Given the description of an element on the screen output the (x, y) to click on. 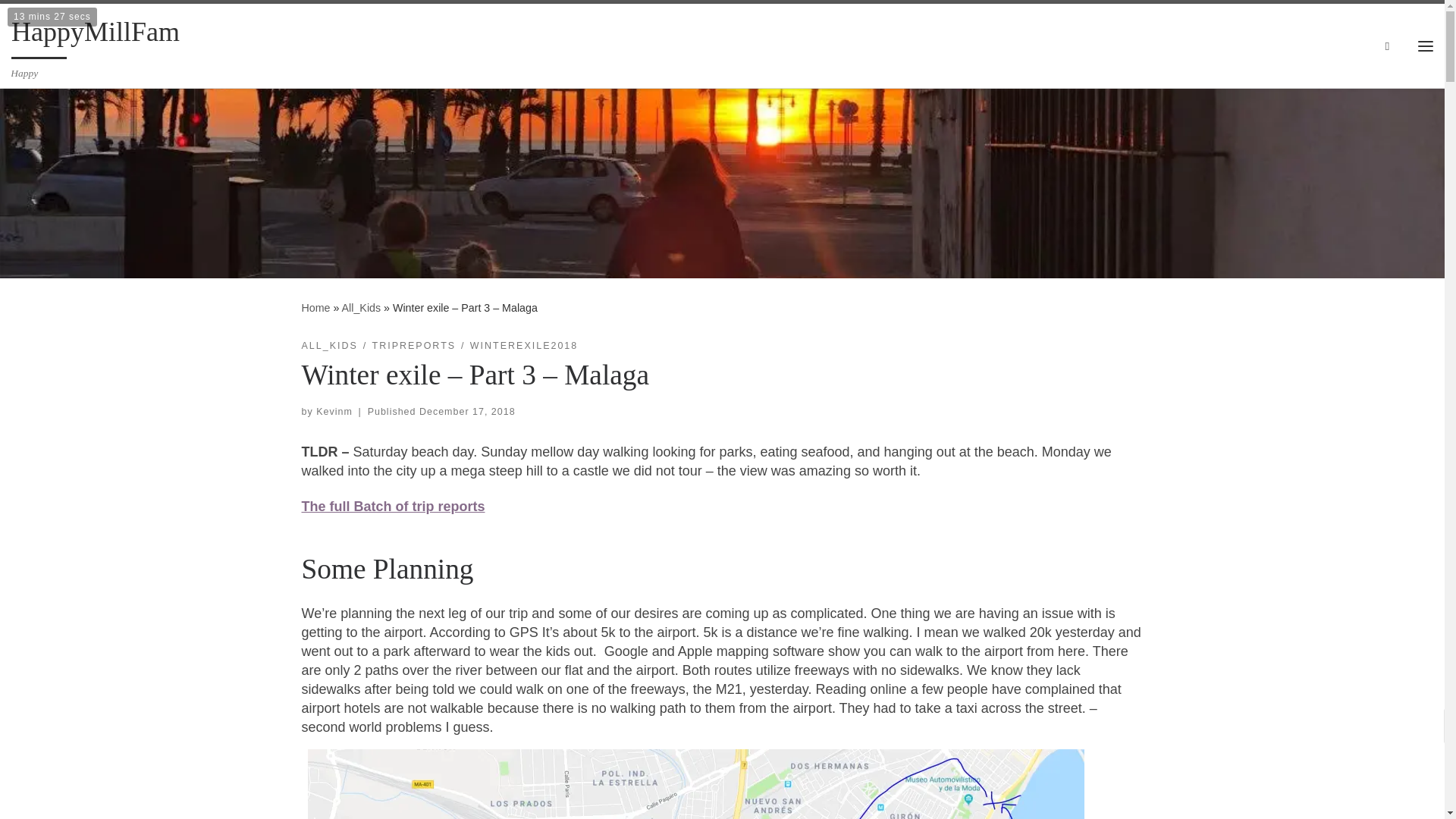
Home (315, 307)
View all posts in TripReports (414, 345)
HappyMillFam (315, 307)
07:10 (467, 411)
Kevinm (333, 411)
December 17, 2018 (467, 411)
Skip to content (60, 20)
HappyMillFam (95, 34)
The full Batch of trip reports (392, 506)
View all posts in WinterExile2018 (524, 345)
